Given the description of an element on the screen output the (x, y) to click on. 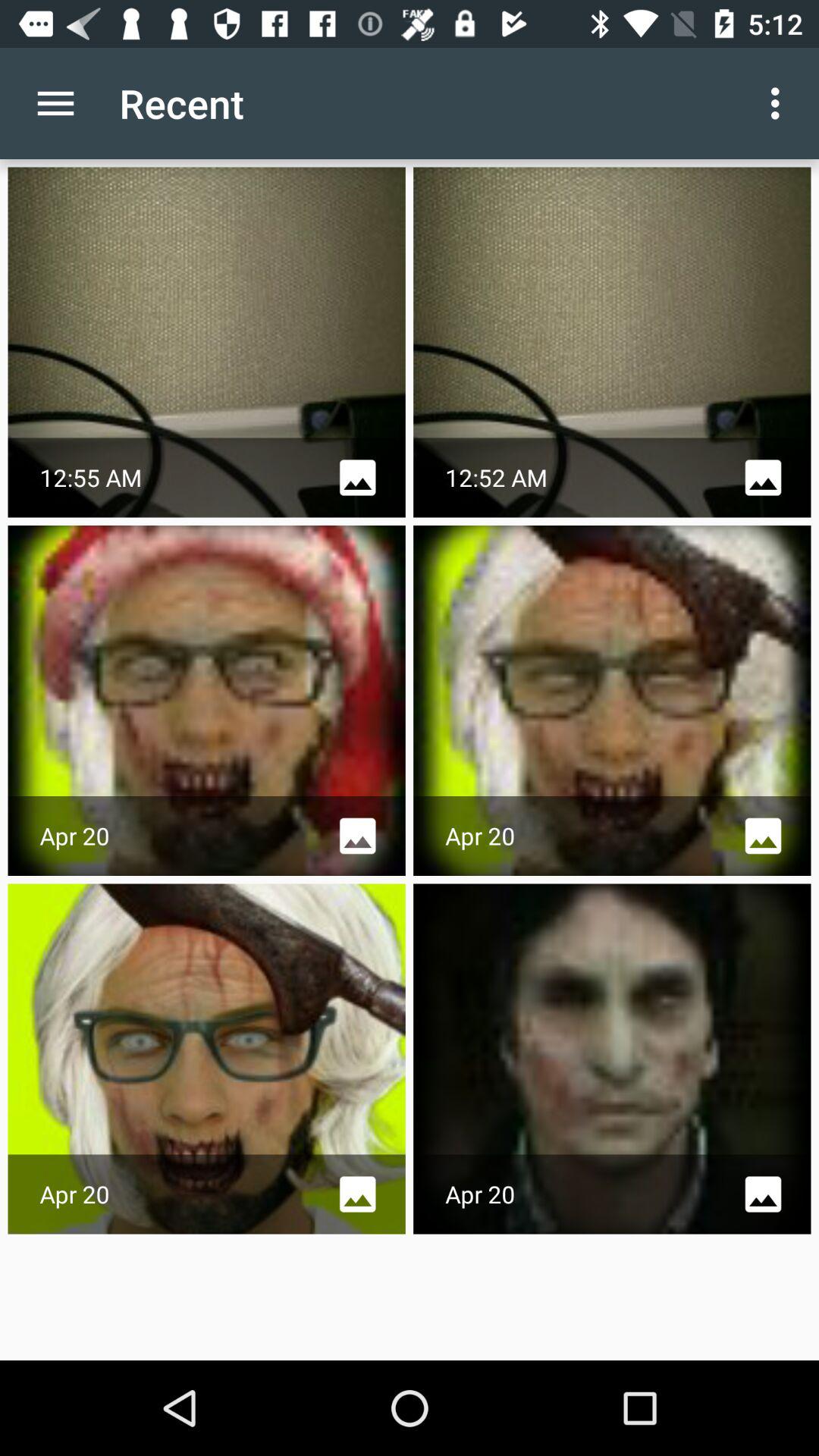
choose the icon next to the recent (55, 103)
